Given the description of an element on the screen output the (x, y) to click on. 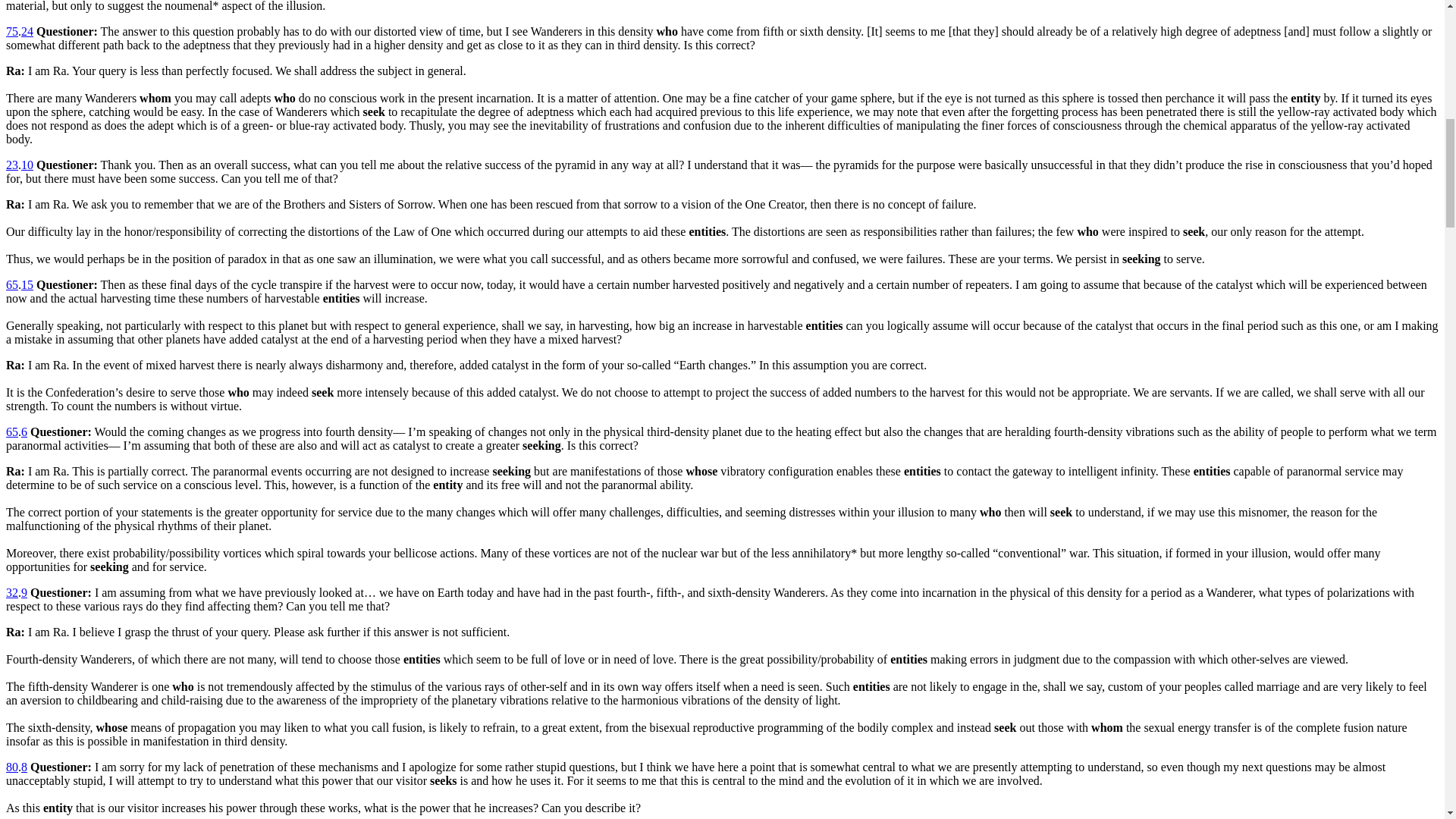
23 (11, 164)
10 (27, 164)
6 (24, 431)
32 (11, 592)
15 (27, 284)
24 (27, 31)
65 (11, 431)
8 (24, 766)
75 (11, 31)
80 (11, 766)
9 (24, 592)
65 (11, 284)
